Given the description of an element on the screen output the (x, y) to click on. 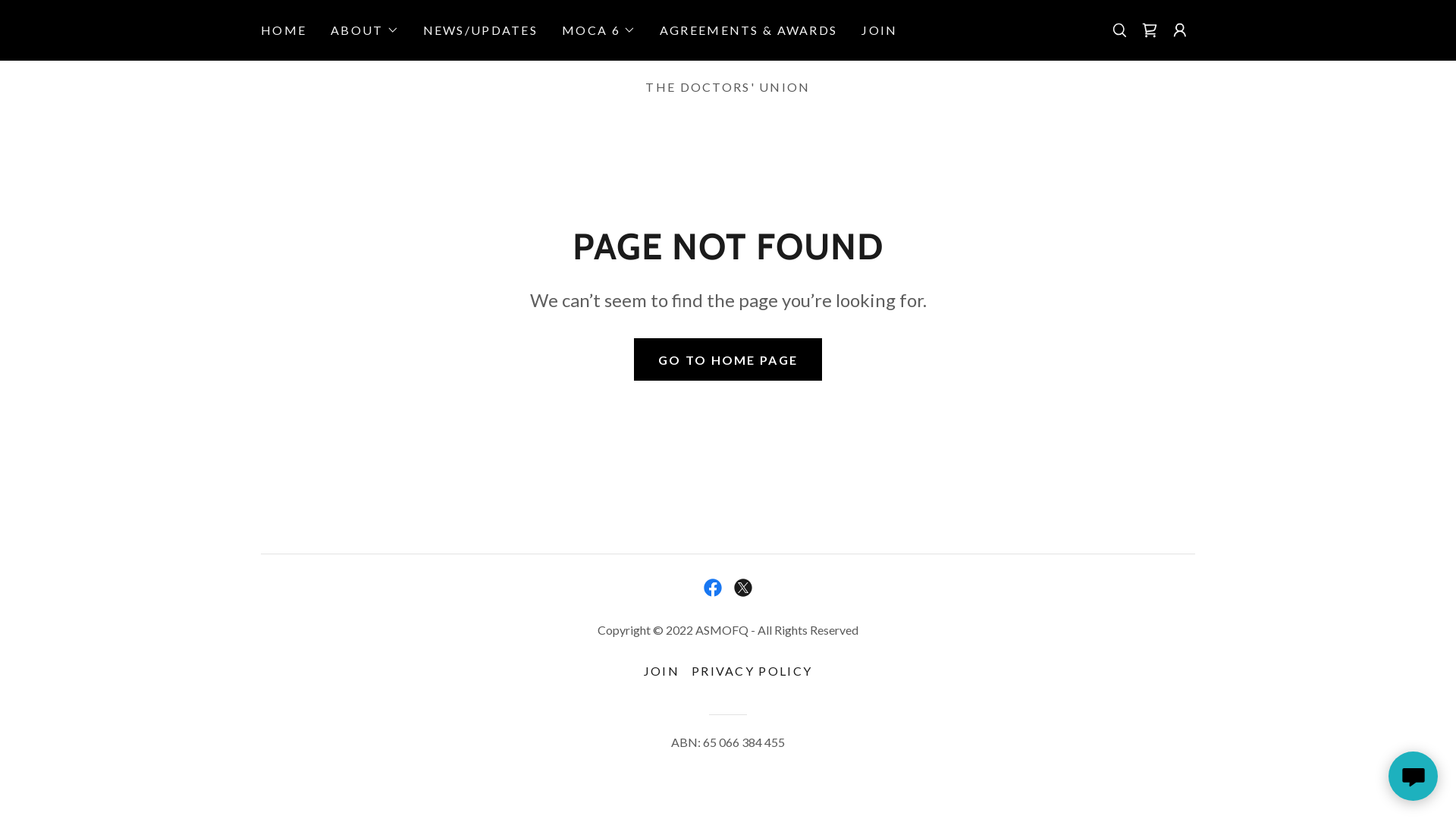
ABOUT Element type: text (364, 30)
GO TO HOME PAGE Element type: text (727, 359)
HOME Element type: text (283, 29)
NEWS/UPDATES Element type: text (480, 29)
AGREEMENTS & AWARDS Element type: text (748, 29)
JOIN Element type: text (661, 670)
PRIVACY POLICY Element type: text (751, 670)
MOCA 6 Element type: text (598, 30)
JOIN Element type: text (878, 29)
